Given the description of an element on the screen output the (x, y) to click on. 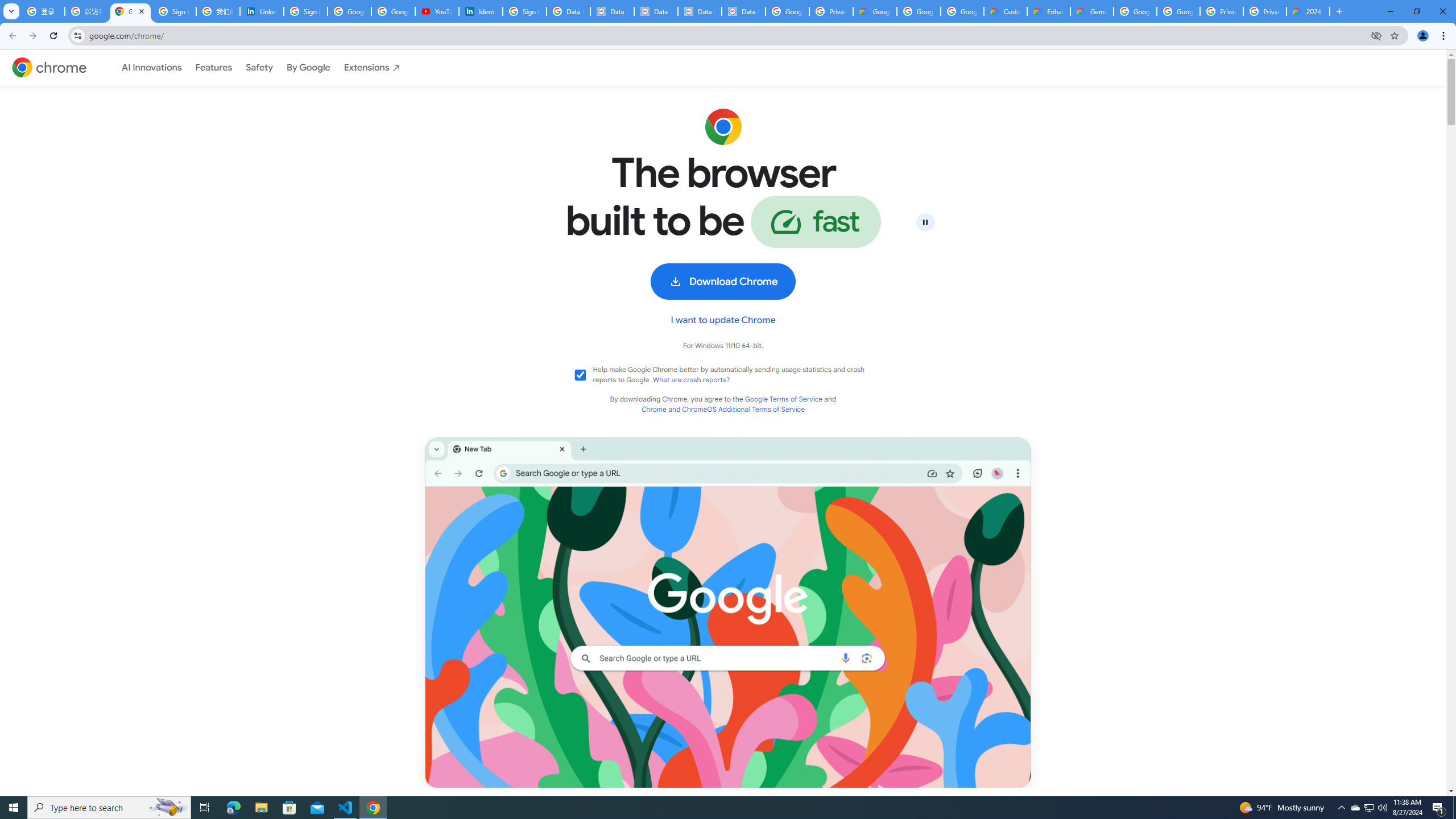
Navigation drawer (261, 67)
Data Privacy Framework (743, 11)
Enhanced Support | Google Cloud (1048, 11)
Jump to content (115, 88)
Download Chrome (722, 281)
features (212, 67)
extensions (371, 67)
Chrome and ChromeOS Additional Terms of Service (722, 409)
Google Cloud Platform (1134, 11)
safety (259, 67)
By Google (308, 67)
